Given the description of an element on the screen output the (x, y) to click on. 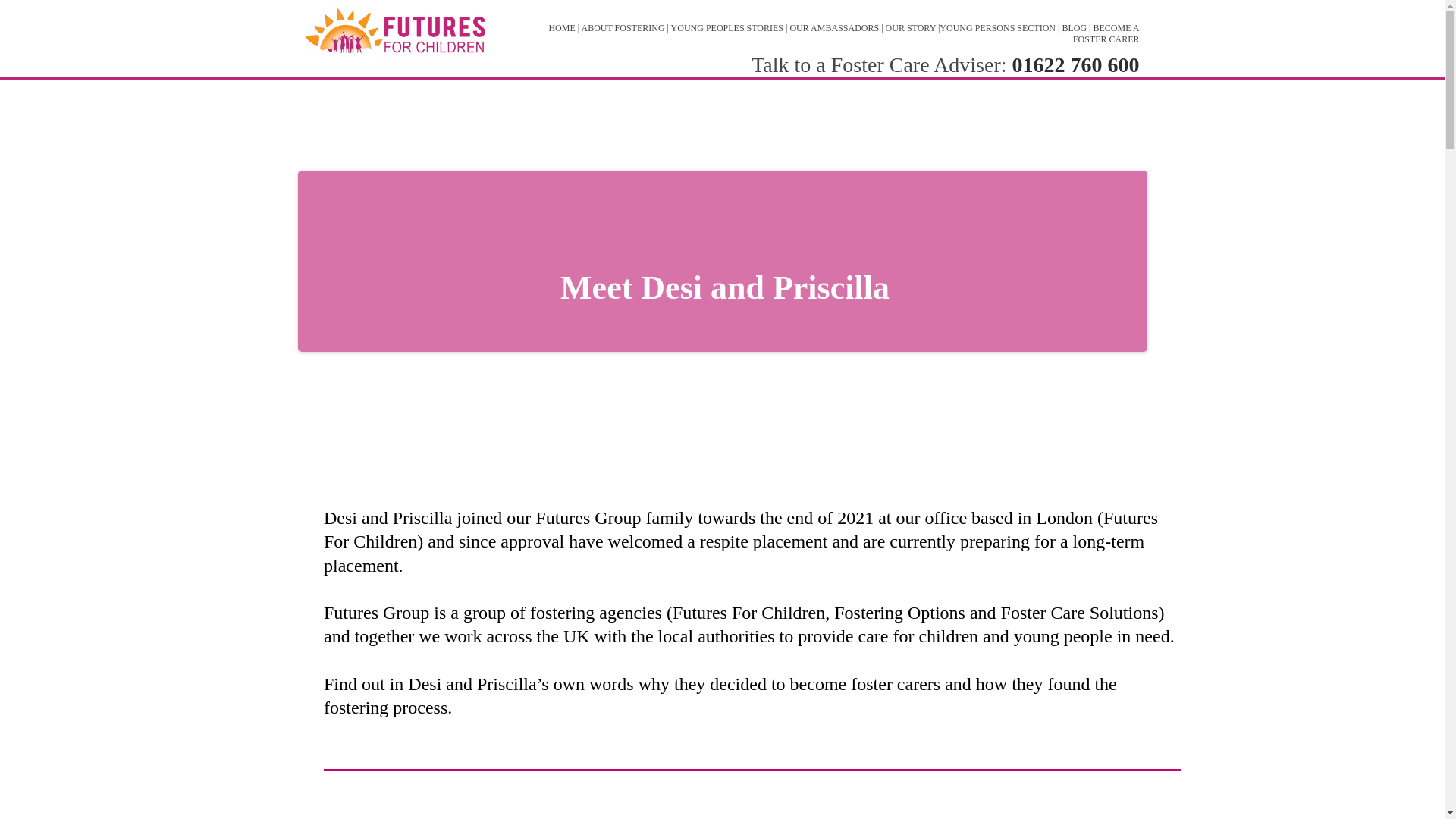
ABOUT FOSTERING (621, 27)
BLOG (1073, 27)
OUR AMBASSADORS (834, 27)
OUR STORY (910, 27)
BECOME A FOSTER CARER (1106, 33)
YOUNG PEOPLES STORIES (727, 27)
HOME (561, 27)
YOUNG PERSONS SECTION (997, 27)
